Given the description of an element on the screen output the (x, y) to click on. 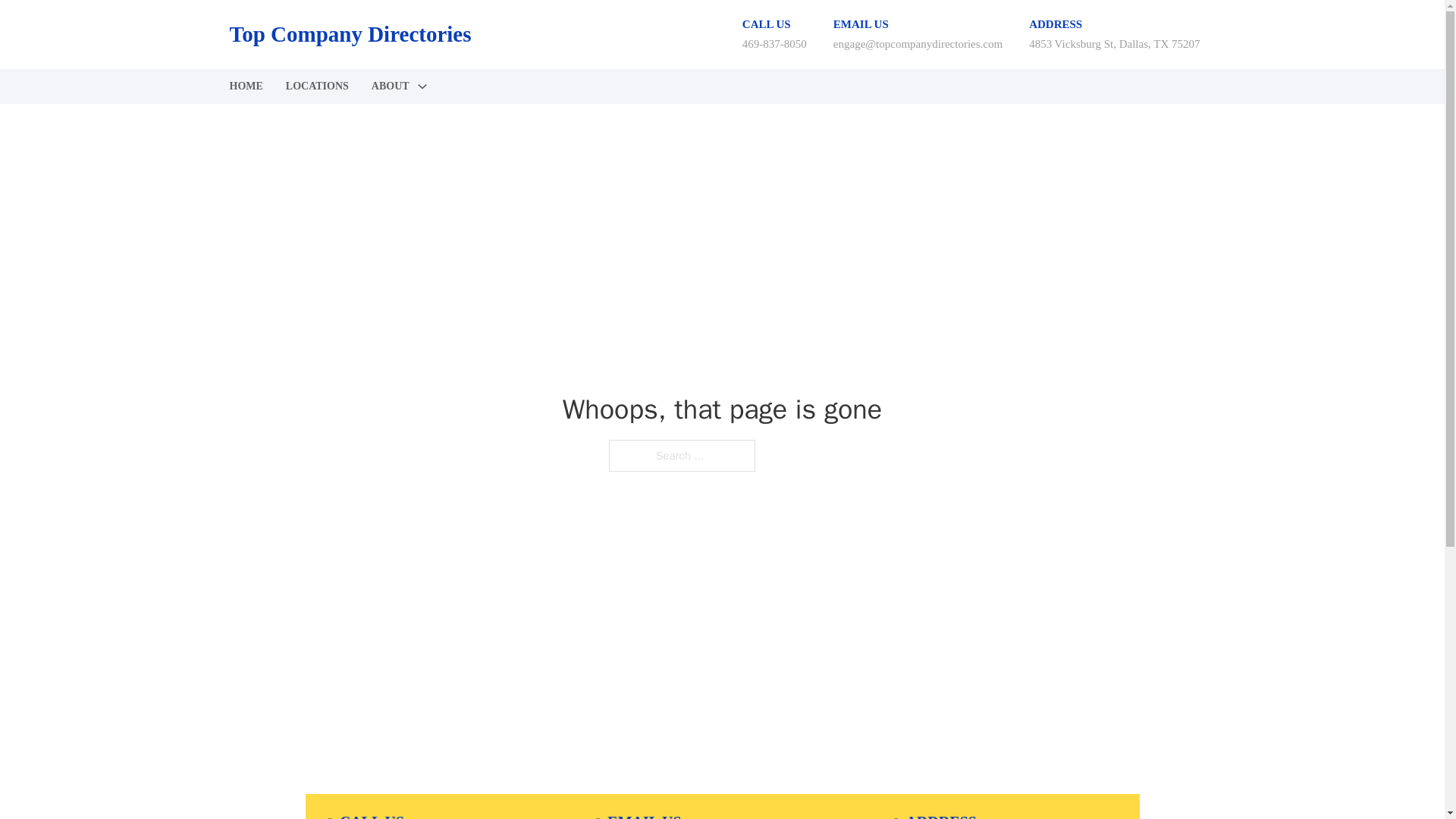
469-837-8050 (774, 43)
HOME (245, 85)
Top Company Directories (349, 34)
LOCATIONS (317, 85)
